Given the description of an element on the screen output the (x, y) to click on. 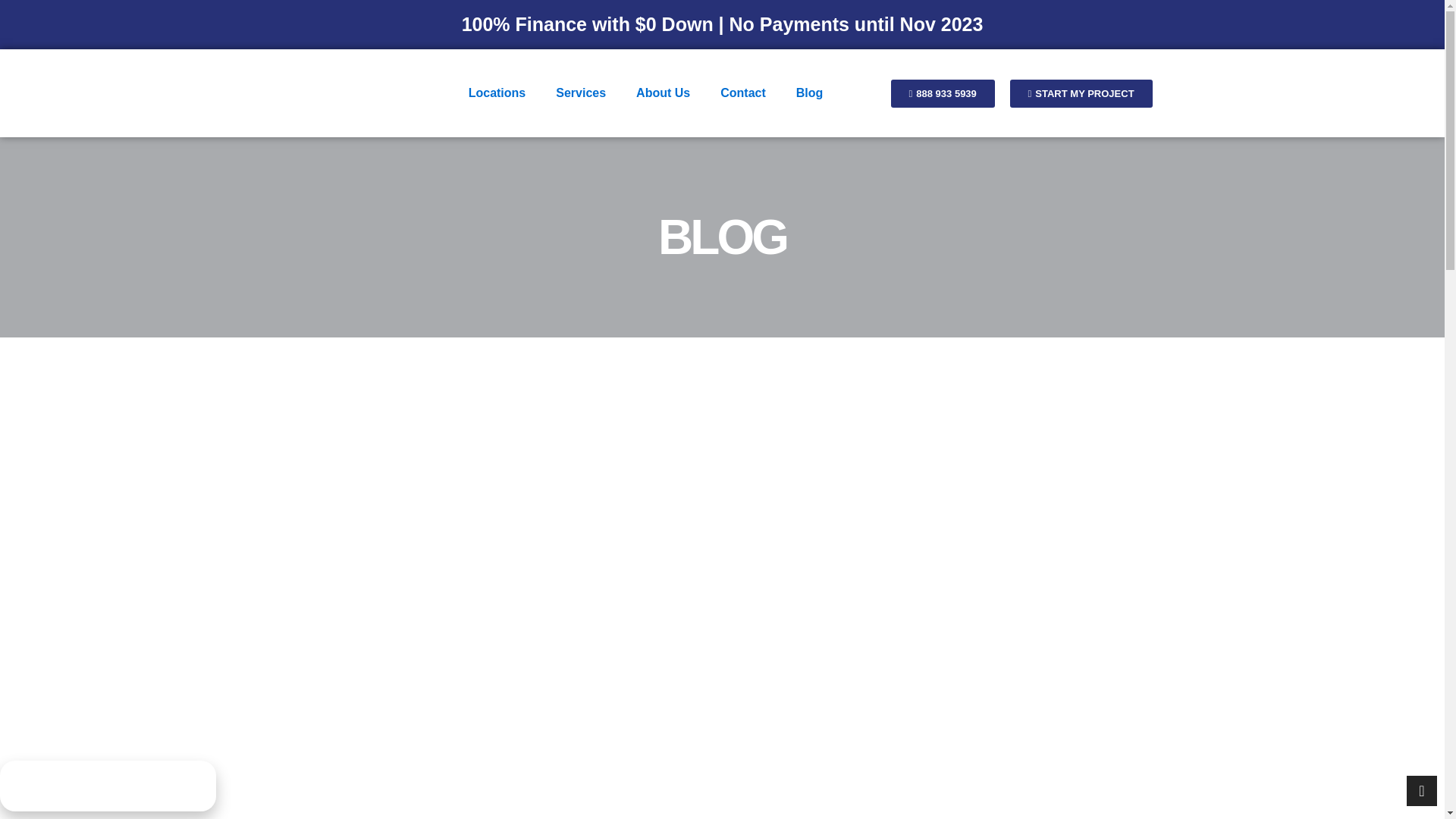
Services (580, 93)
Locations (496, 93)
Blog (809, 93)
Contact (742, 93)
About Us (662, 93)
